Given the description of an element on the screen output the (x, y) to click on. 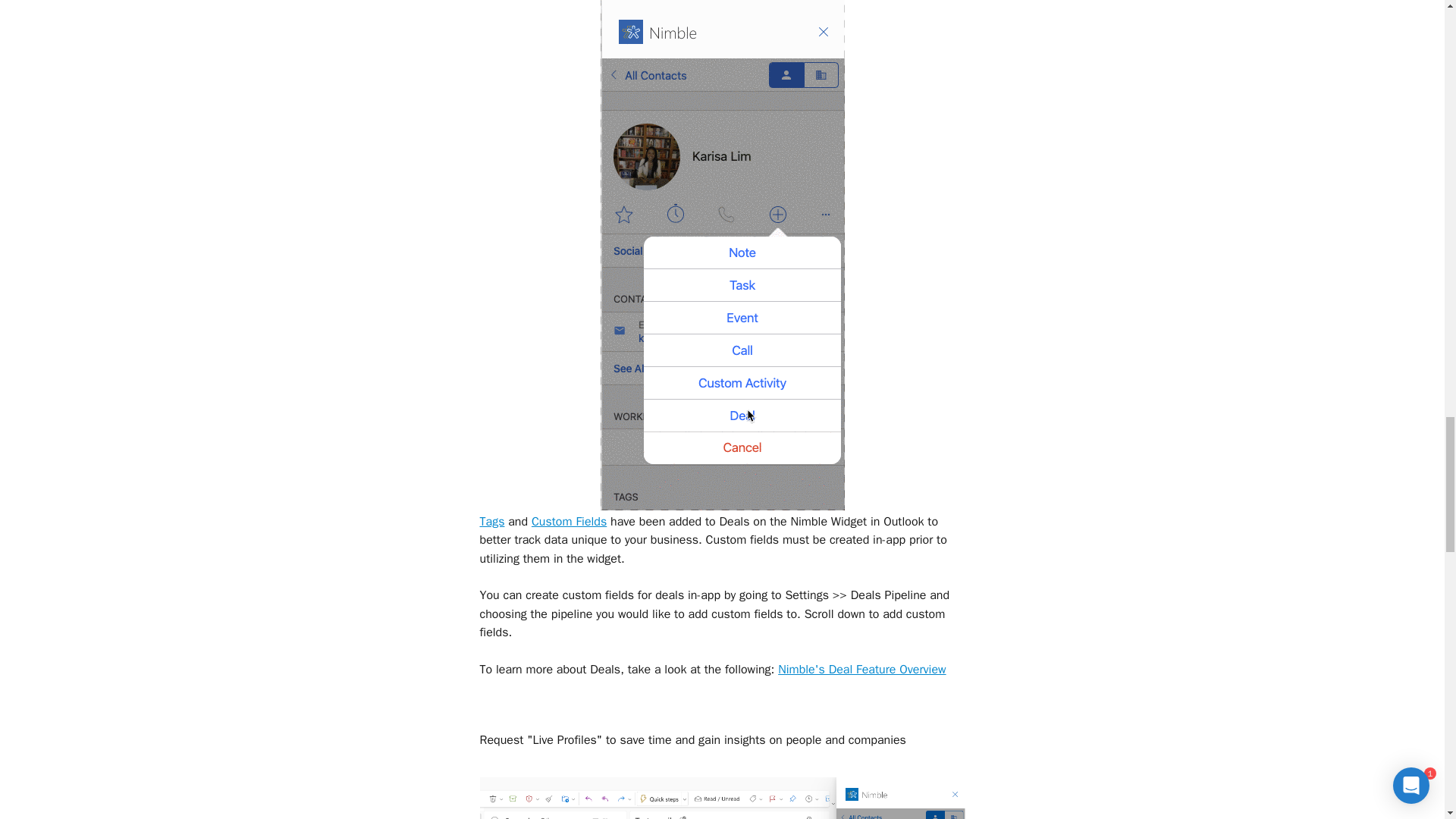
Tags (491, 521)
Custom Fields (569, 521)
Nimble's Deal Feature Overview (860, 669)
